Given the description of an element on the screen output the (x, y) to click on. 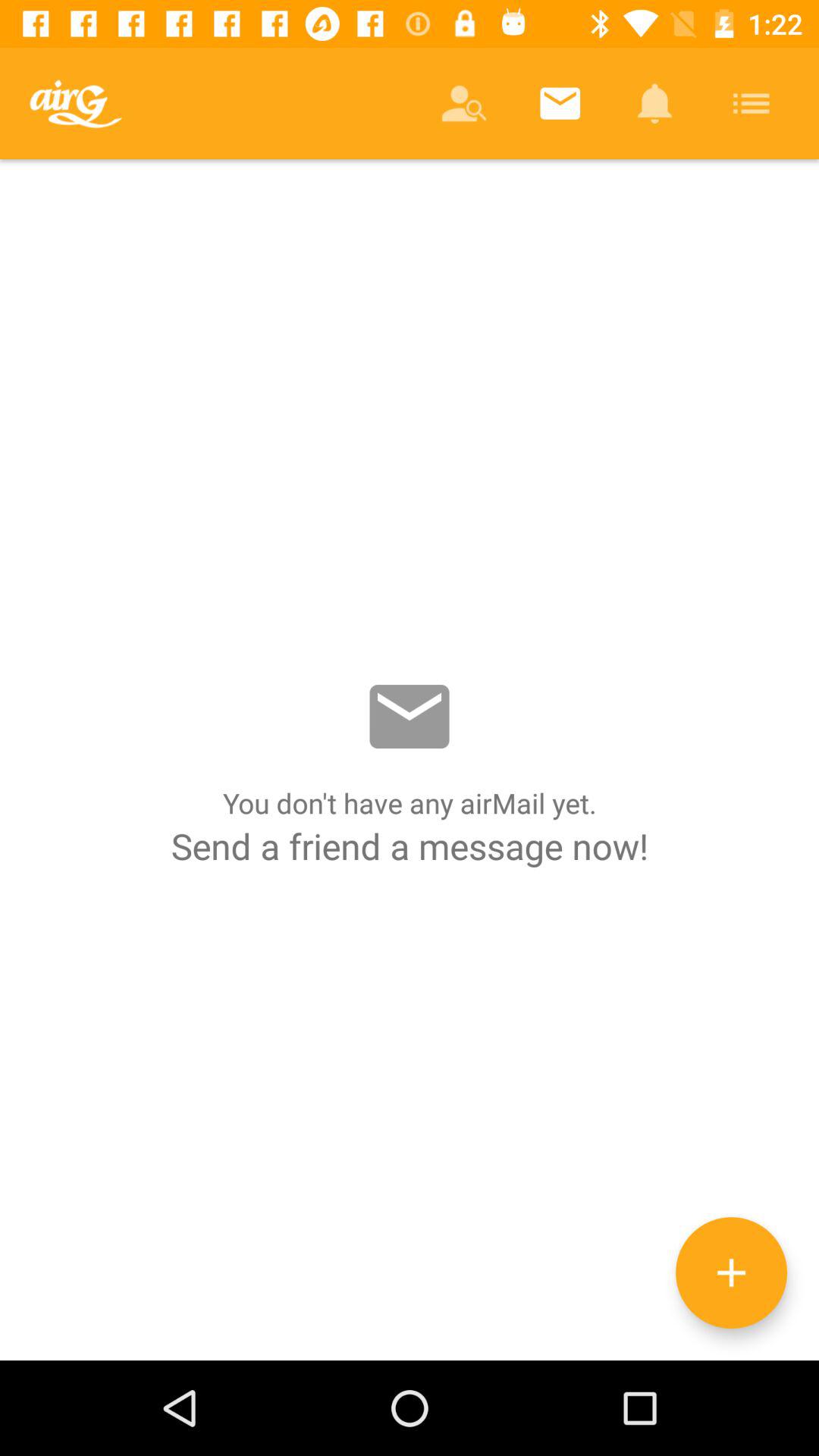
send a message (409, 759)
